Given the description of an element on the screen output the (x, y) to click on. 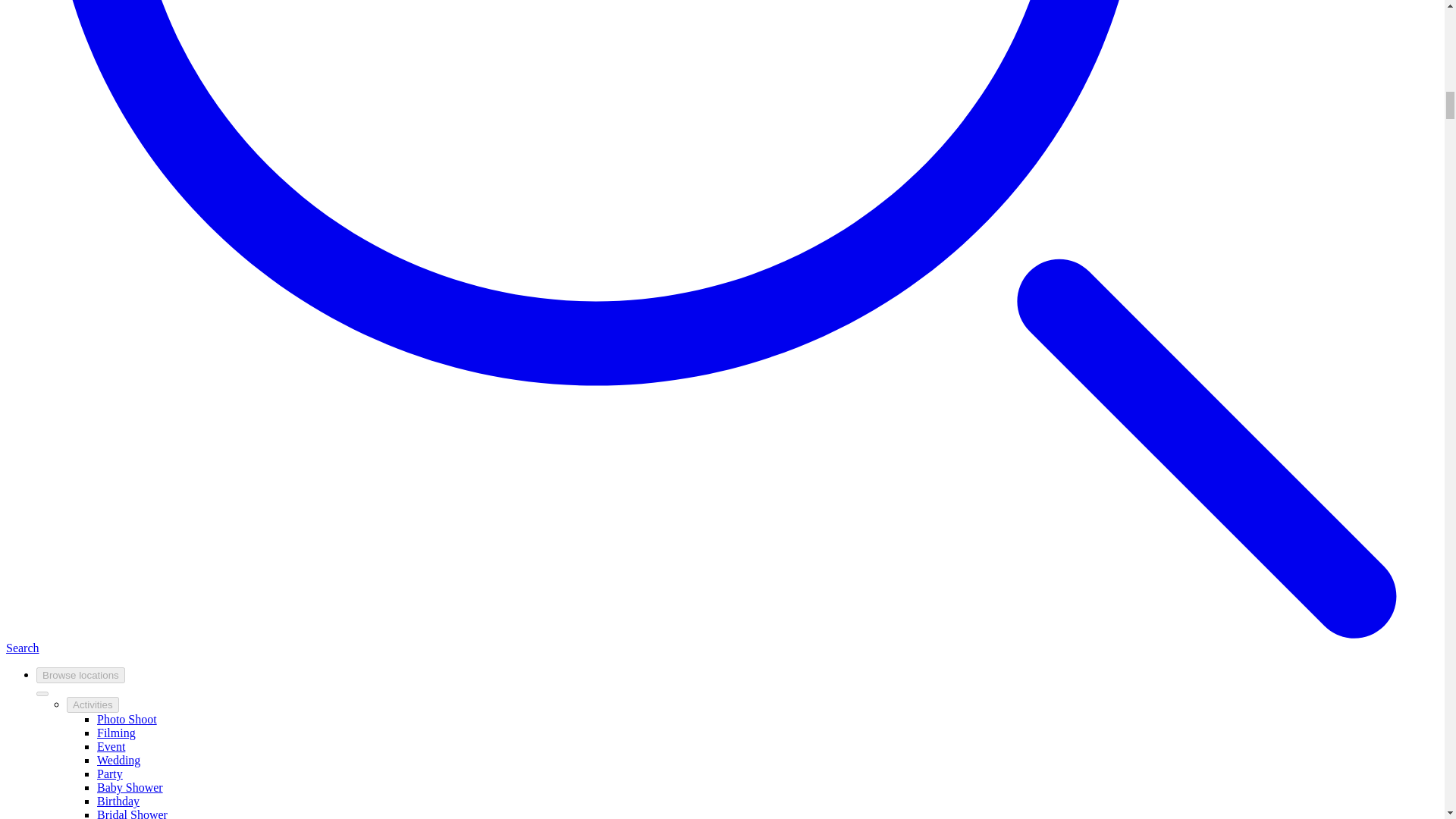
Birthday (118, 800)
Baby Shower (130, 787)
Party (109, 773)
Photo Shoot (127, 718)
Browse locations (80, 675)
Bridal Shower (132, 813)
Wedding (118, 759)
Event (111, 746)
Activities (92, 704)
Filming (116, 732)
